Given the description of an element on the screen output the (x, y) to click on. 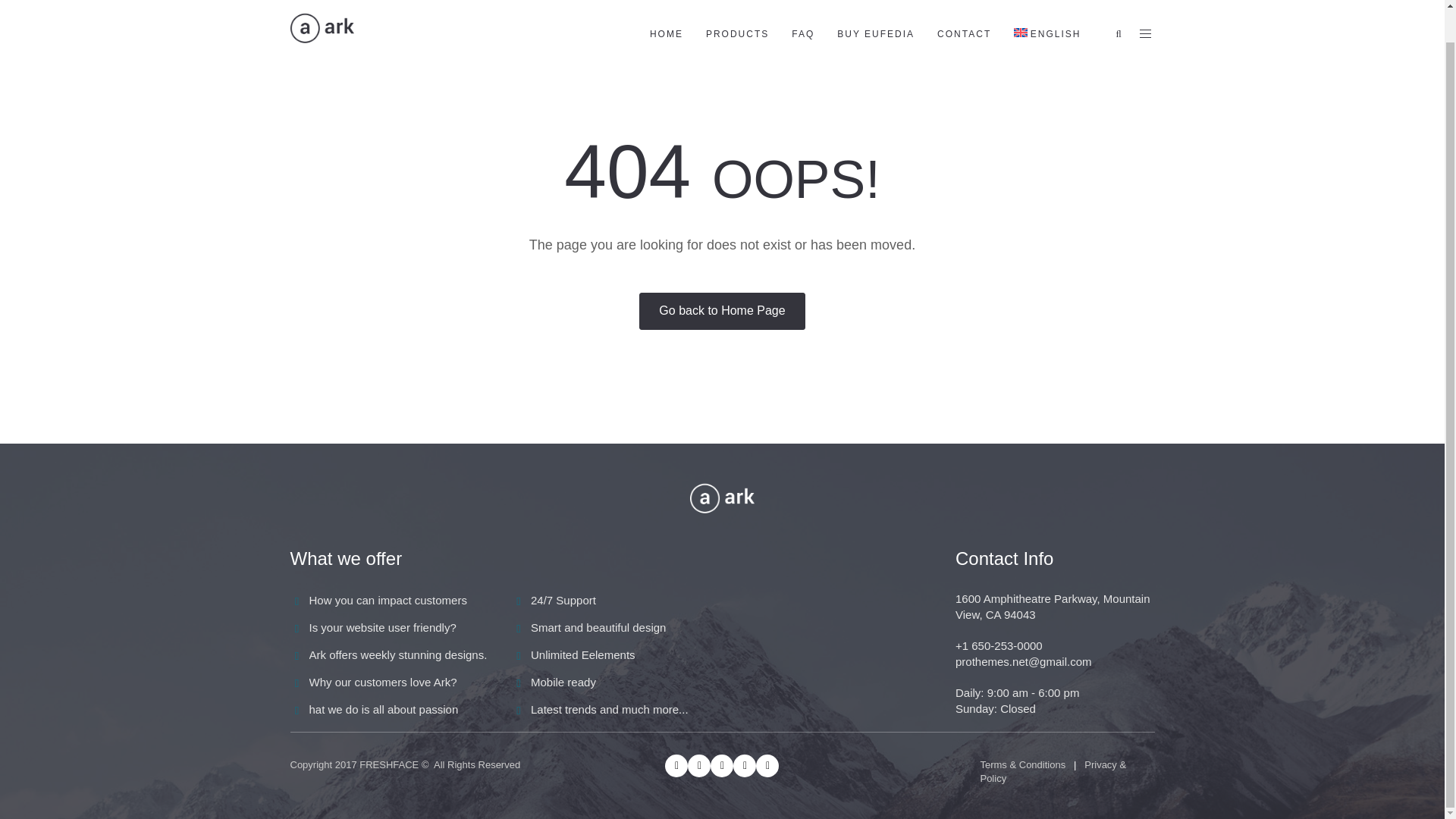
FRESHFACE (389, 764)
English (1047, 17)
How you can impact customers (387, 599)
FAQ (802, 17)
ENGLISH (1047, 17)
Go back to Home Page (722, 310)
Why our customers love Ark? (382, 681)
PRODUCTS (737, 17)
Is your website user friendly? (382, 626)
Mobile ready (563, 681)
